Given the description of an element on the screen output the (x, y) to click on. 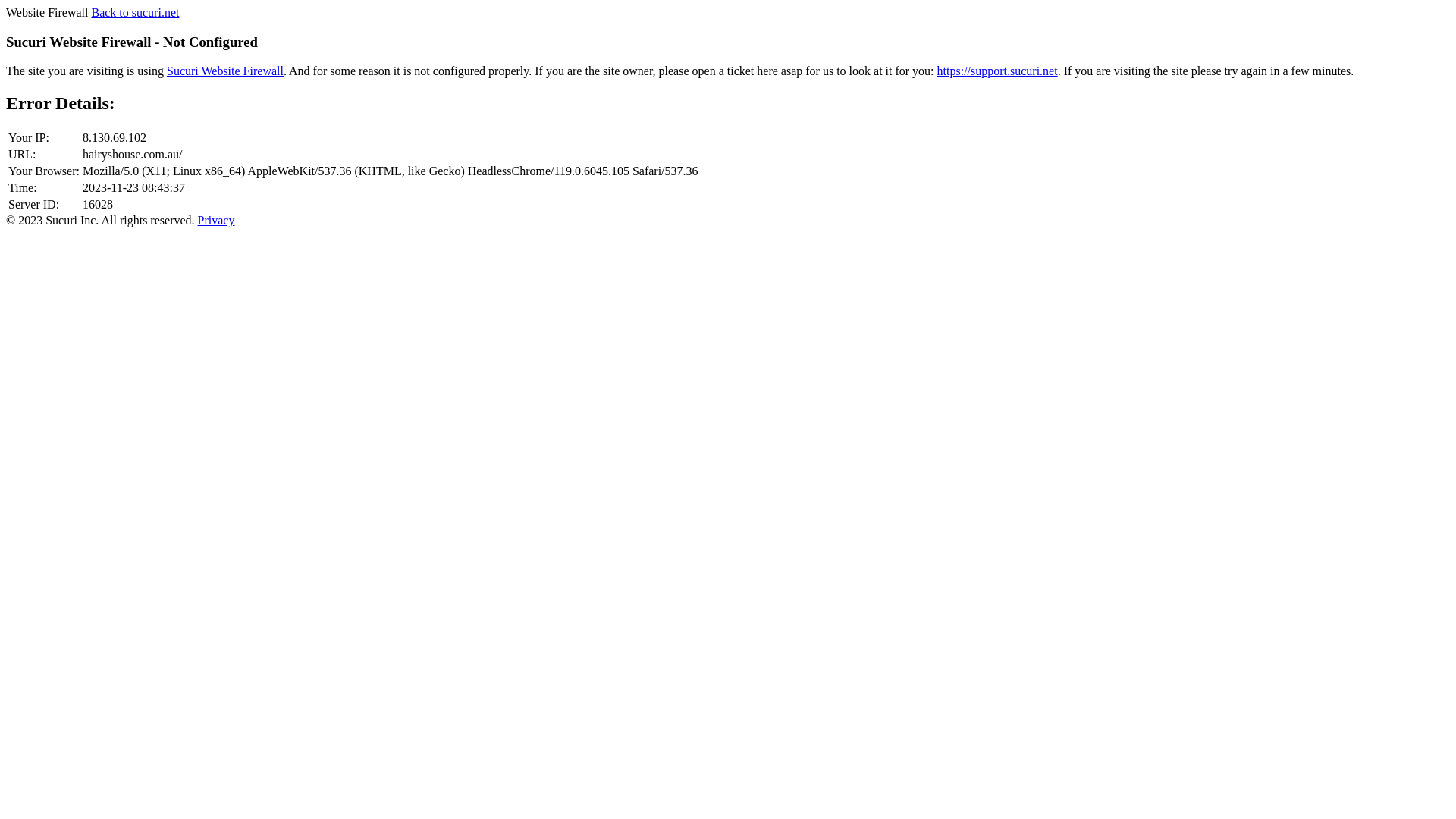
Privacy Element type: text (216, 219)
https://support.sucuri.net Element type: text (997, 70)
Back to sucuri.net Element type: text (134, 12)
Sucuri Website Firewall Element type: text (224, 70)
